Given the description of an element on the screen output the (x, y) to click on. 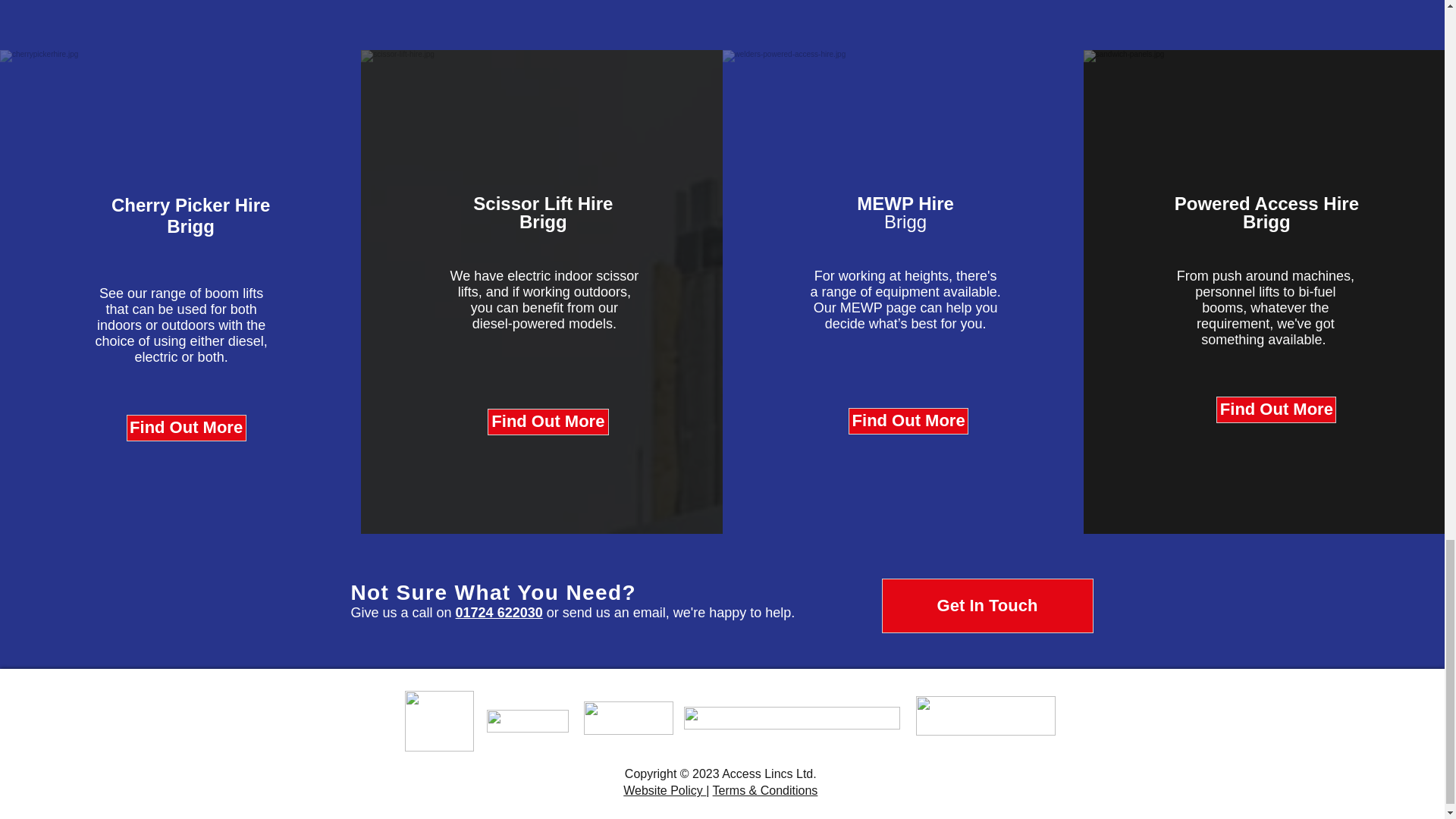
01724 622030 (499, 612)
Find Out More (1275, 409)
JLG-logo.webp (627, 717)
image-genie.png (527, 721)
Website Policy  (664, 789)
Find Out More (186, 427)
Niftylift-Logo.png (791, 717)
Find Out More (547, 421)
CPA-Logo-Web.png (439, 721)
Get In Touch (986, 605)
Skyjack-logo.png (985, 715)
Find Out More (908, 420)
